Given the description of an element on the screen output the (x, y) to click on. 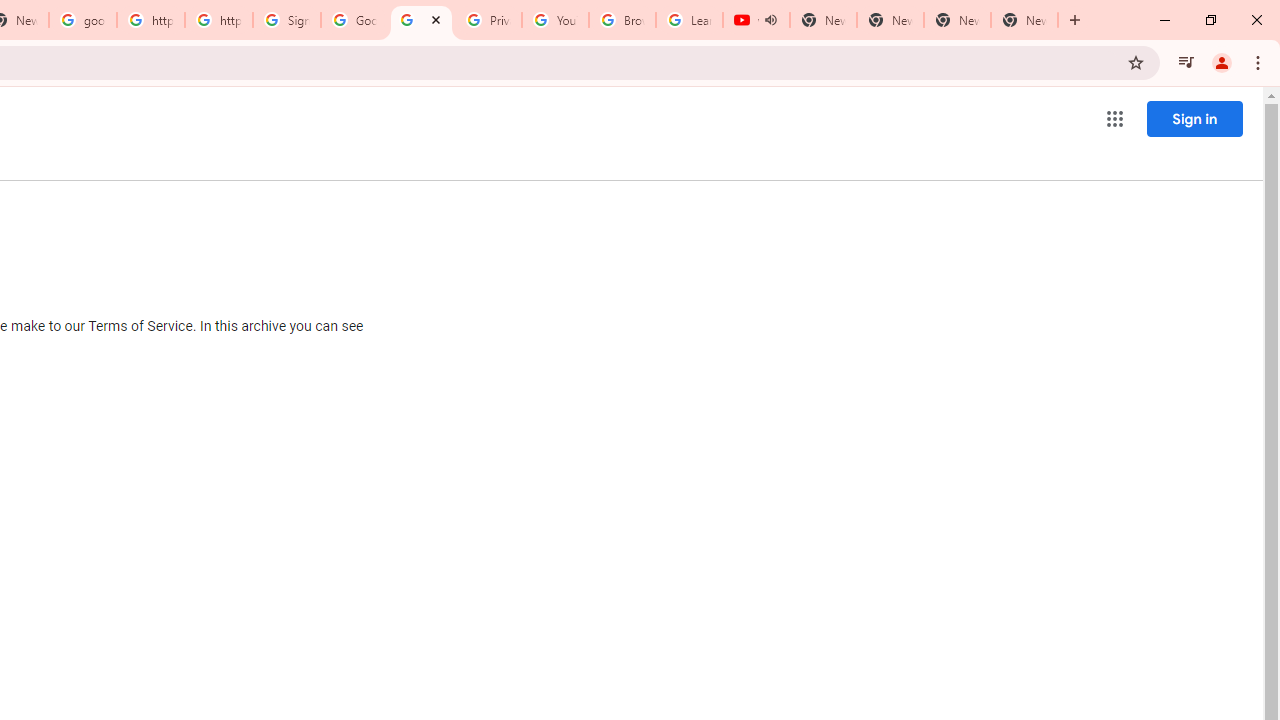
Mute tab (770, 20)
https://scholar.google.com/ (219, 20)
YouTube (555, 20)
